Given the description of an element on the screen output the (x, y) to click on. 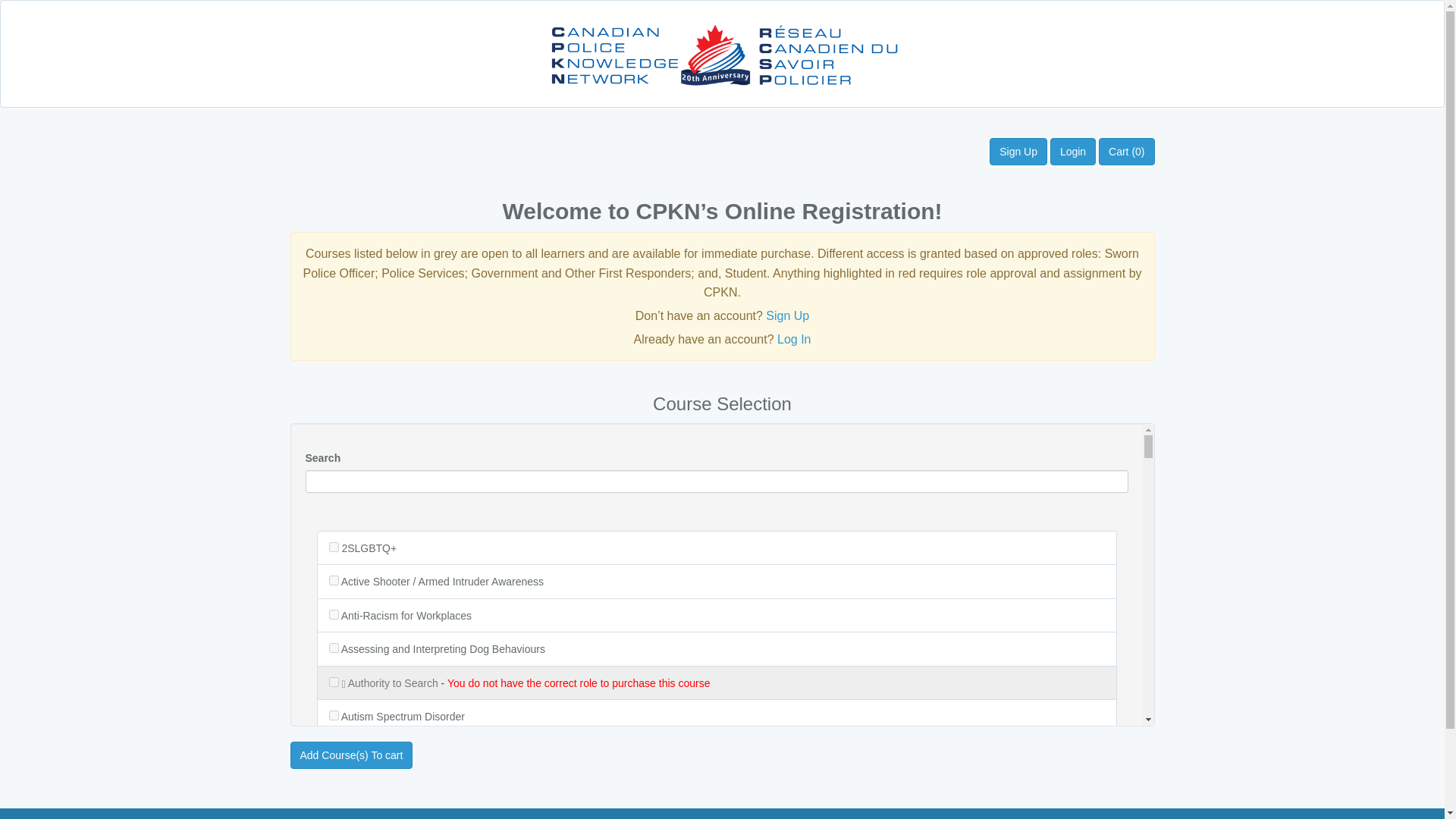
Sign Up (1018, 151)
243 (334, 614)
143 (334, 748)
176 (334, 782)
6 (334, 647)
234 (334, 682)
Sign Up (787, 315)
208 (334, 547)
Login (1072, 151)
151 (334, 815)
180 (334, 580)
138 (334, 715)
Log In (793, 338)
